Given the description of an element on the screen output the (x, y) to click on. 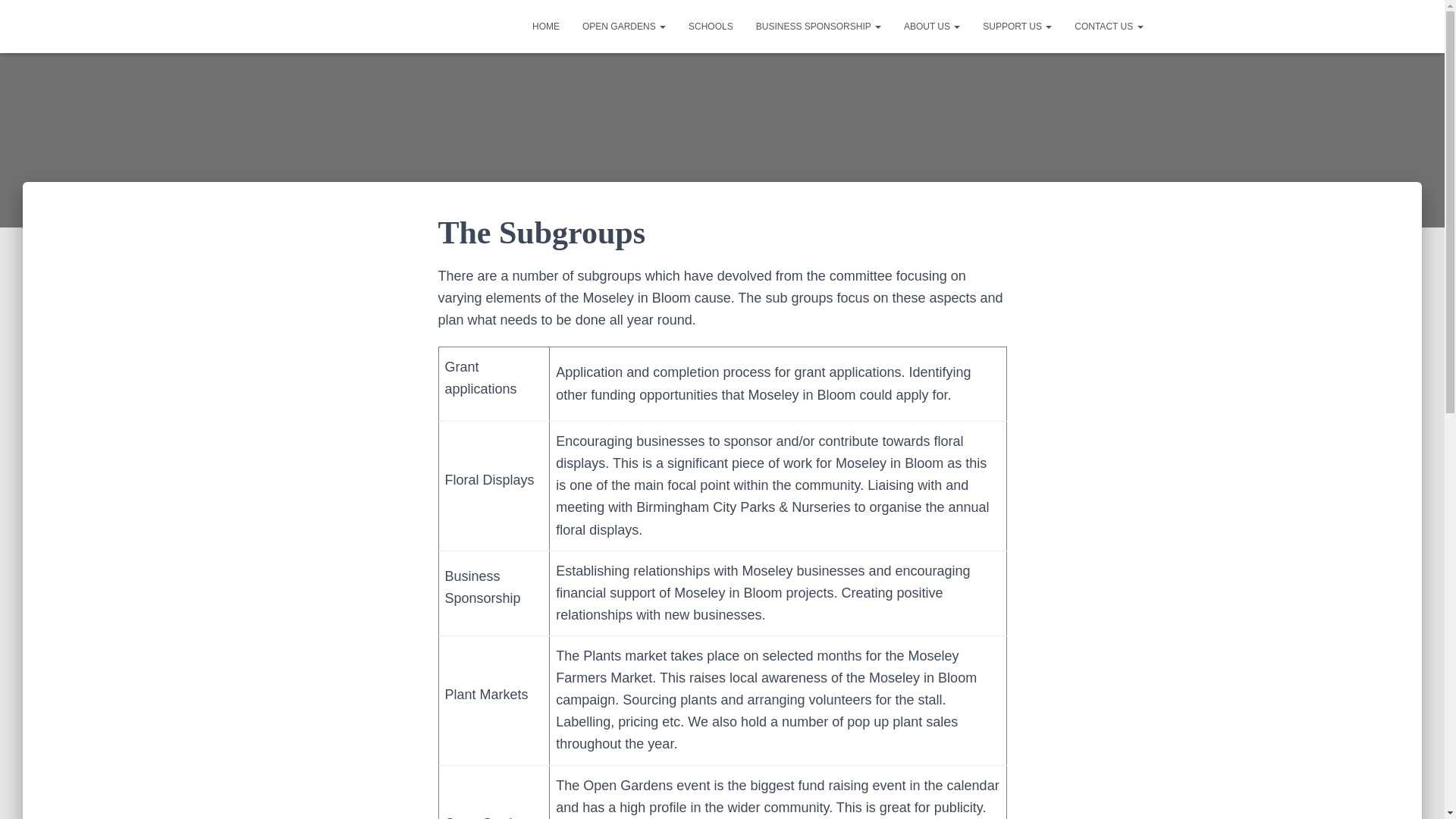
About Us (931, 26)
BUSINESS SPONSORSHIP (818, 26)
HOME (545, 26)
ABOUT US (931, 26)
SUPPORT US (1016, 26)
Home (545, 26)
Business Sponsorship (818, 26)
OPEN GARDENS (623, 26)
CONTACT US (1108, 26)
Moseley in Bloom (336, 26)
